Given the description of an element on the screen output the (x, y) to click on. 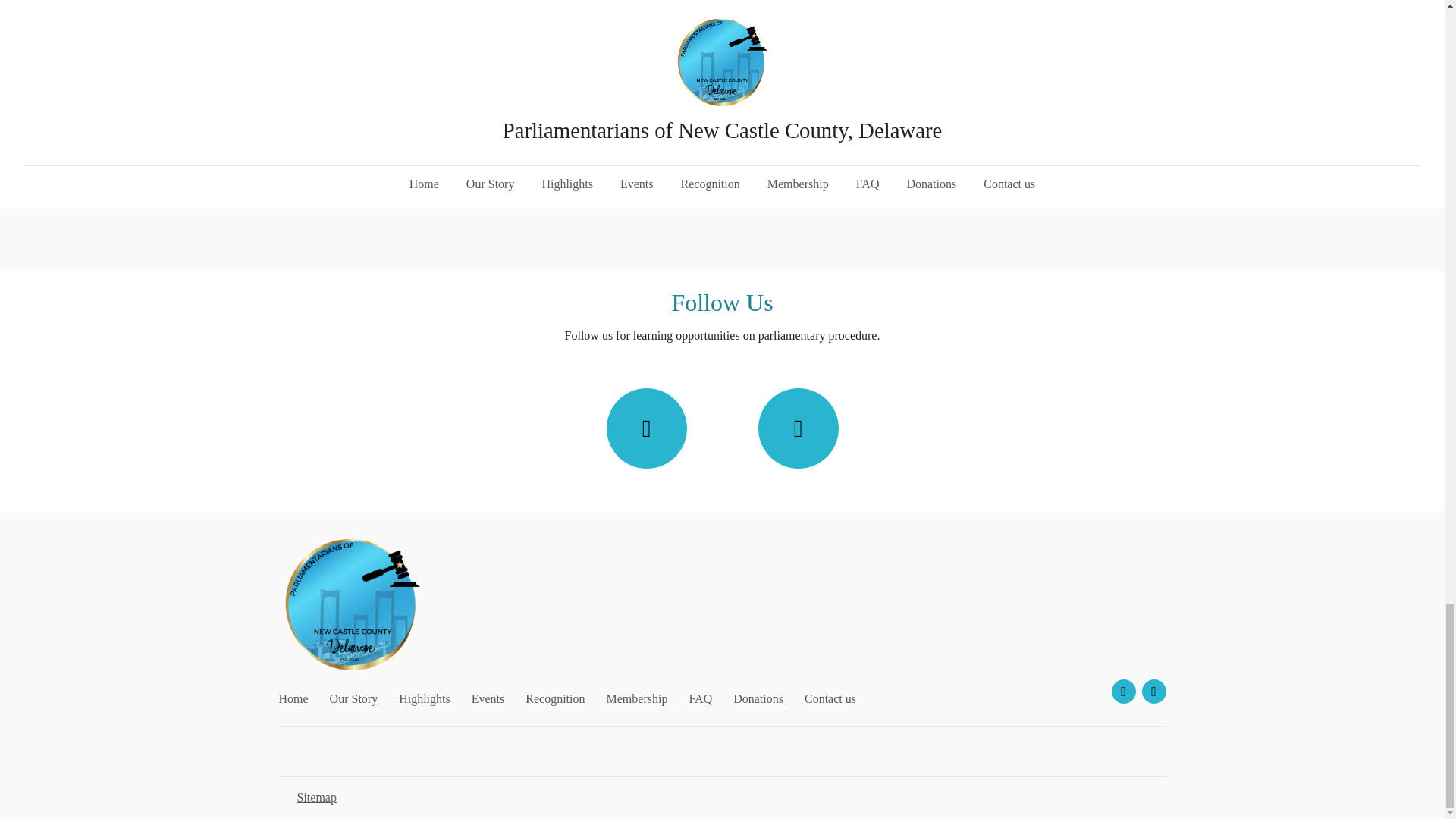
Membership (637, 698)
National Association of Parliamentarians (365, 179)
Highlights (423, 698)
Events (488, 698)
Delaware State Association of Parliamentarians (834, 179)
Home (293, 698)
Our Story (354, 698)
Recognition (555, 698)
